Given the description of an element on the screen output the (x, y) to click on. 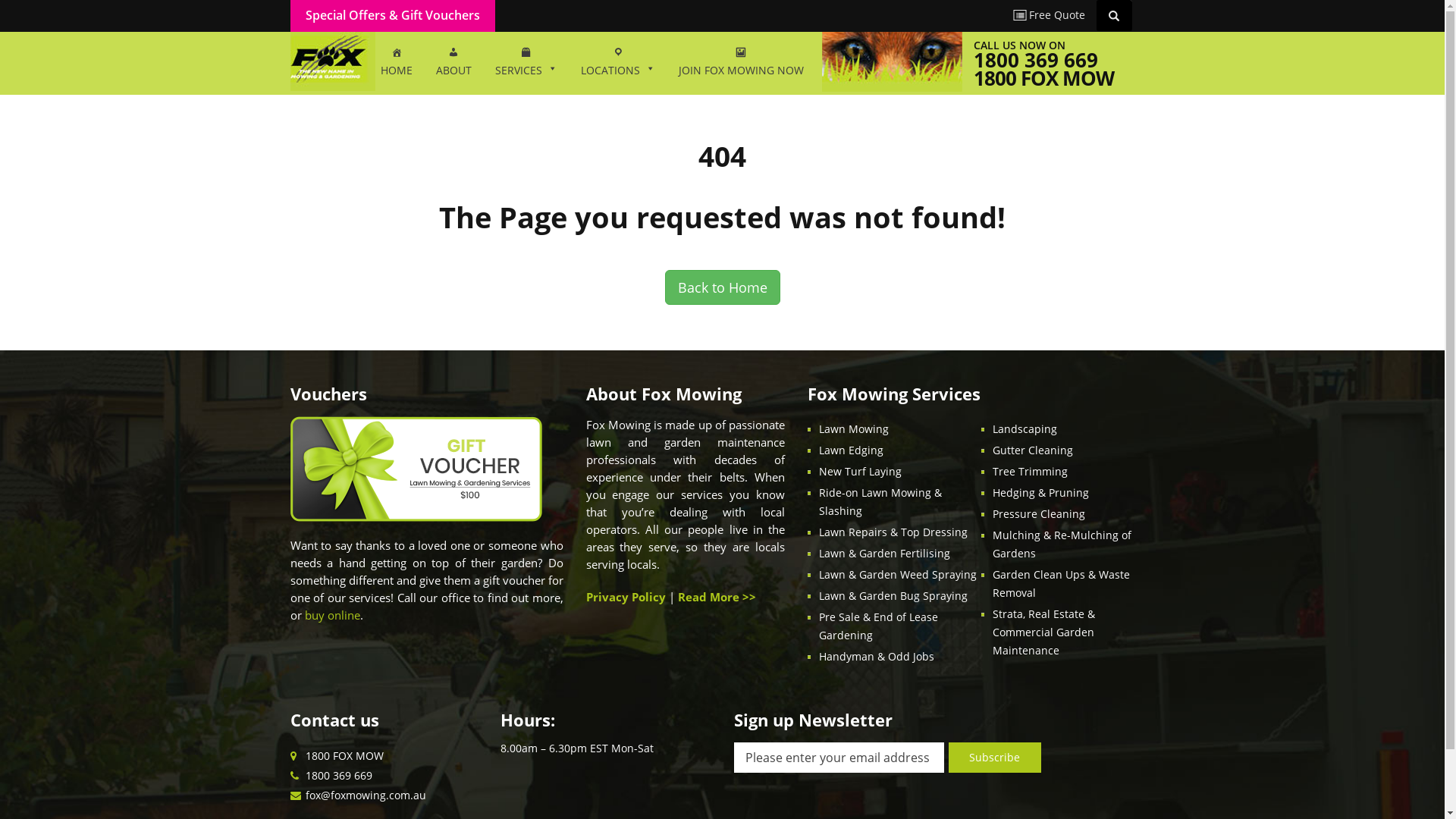
Special Offers & Gift Vouchers Element type: text (391, 14)
buy online Element type: text (332, 614)
Landscaping Element type: text (1024, 428)
Gutter Cleaning Element type: text (1032, 449)
Ride-on Lawn Mowing & Slashing Element type: text (880, 501)
Free Quote Element type: text (1050, 14)
Lawn Mowing Element type: text (853, 428)
Pre Sale & End of Lease Gardening Element type: text (878, 625)
JOIN FOX MOWING NOW Element type: text (741, 62)
Garden Clean Ups & Waste Removal Element type: text (1060, 583)
Handyman & Odd Jobs Element type: text (876, 656)
Lawn Repairs & Top Dressing Element type: text (893, 531)
Lawn & Garden Bug Spraying Element type: text (893, 595)
Pressure Cleaning Element type: text (1038, 513)
Lawn & Garden Weed Spraying Element type: text (897, 574)
HOME Element type: text (395, 62)
1800 369 669 Element type: text (1035, 59)
Rechercher Element type: text (1116, 15)
SERVICES Element type: text (525, 62)
Lawn Edging Element type: text (851, 449)
Privacy Policy Element type: text (625, 596)
Back to Home Element type: text (721, 286)
Tree Trimming Element type: text (1029, 471)
1800 369 669 Element type: text (337, 775)
1800 FOX MOW Element type: text (1043, 77)
ABOUT Element type: text (453, 62)
LOCATIONS Element type: text (616, 62)
New Turf Laying Element type: text (860, 471)
Hedging & Pruning Element type: text (1040, 492)
Subscribe Element type: text (994, 757)
Lawn & Garden Fertilising Element type: text (884, 553)
Mulching & Re-Mulching of Gardens Element type: text (1061, 543)
Read More >> Element type: text (716, 596)
Strata, Real Estate & Commercial Garden Maintenance Element type: text (1043, 631)
